Given the description of an element on the screen output the (x, y) to click on. 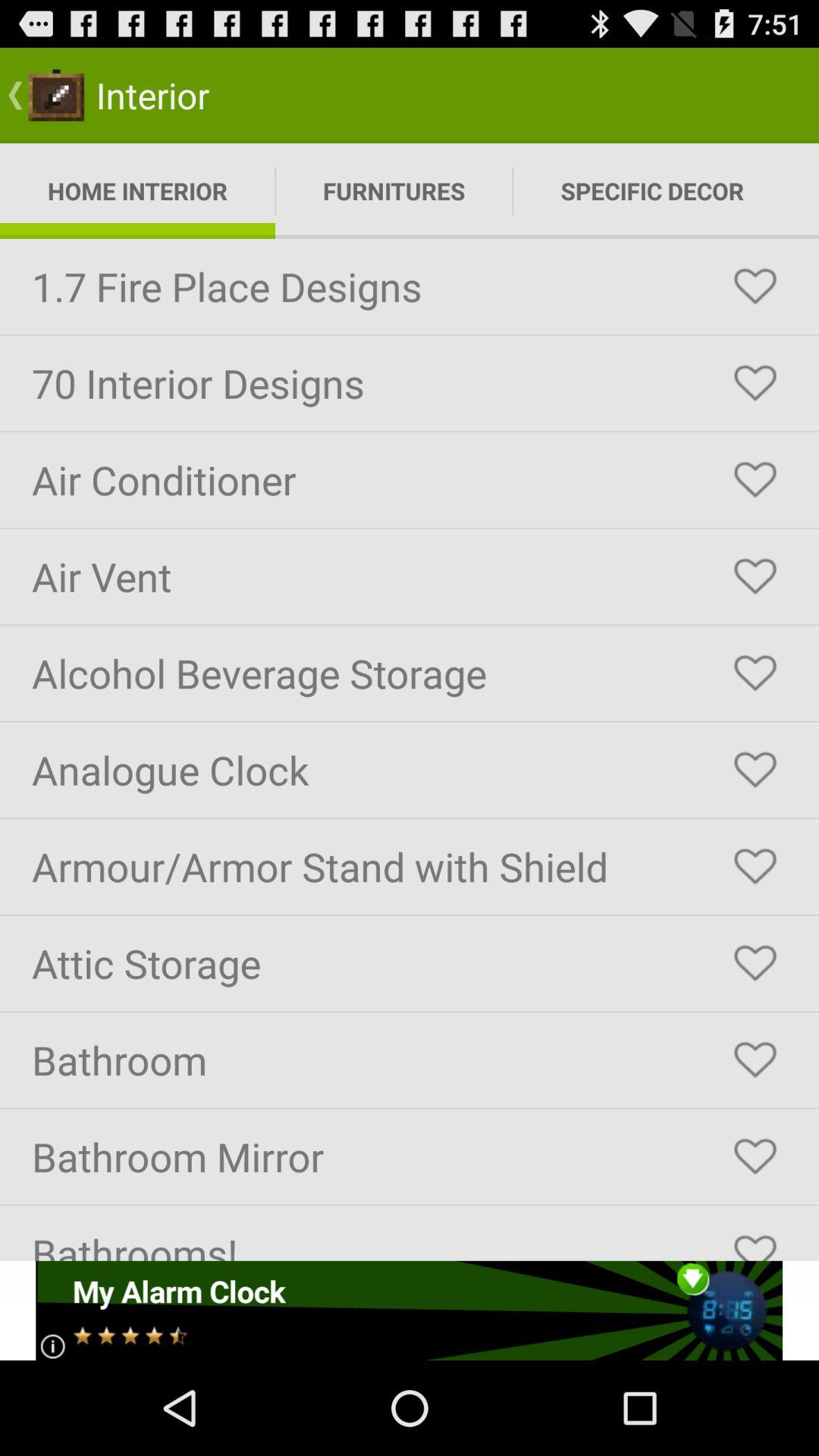
like (755, 1240)
